Given the description of an element on the screen output the (x, y) to click on. 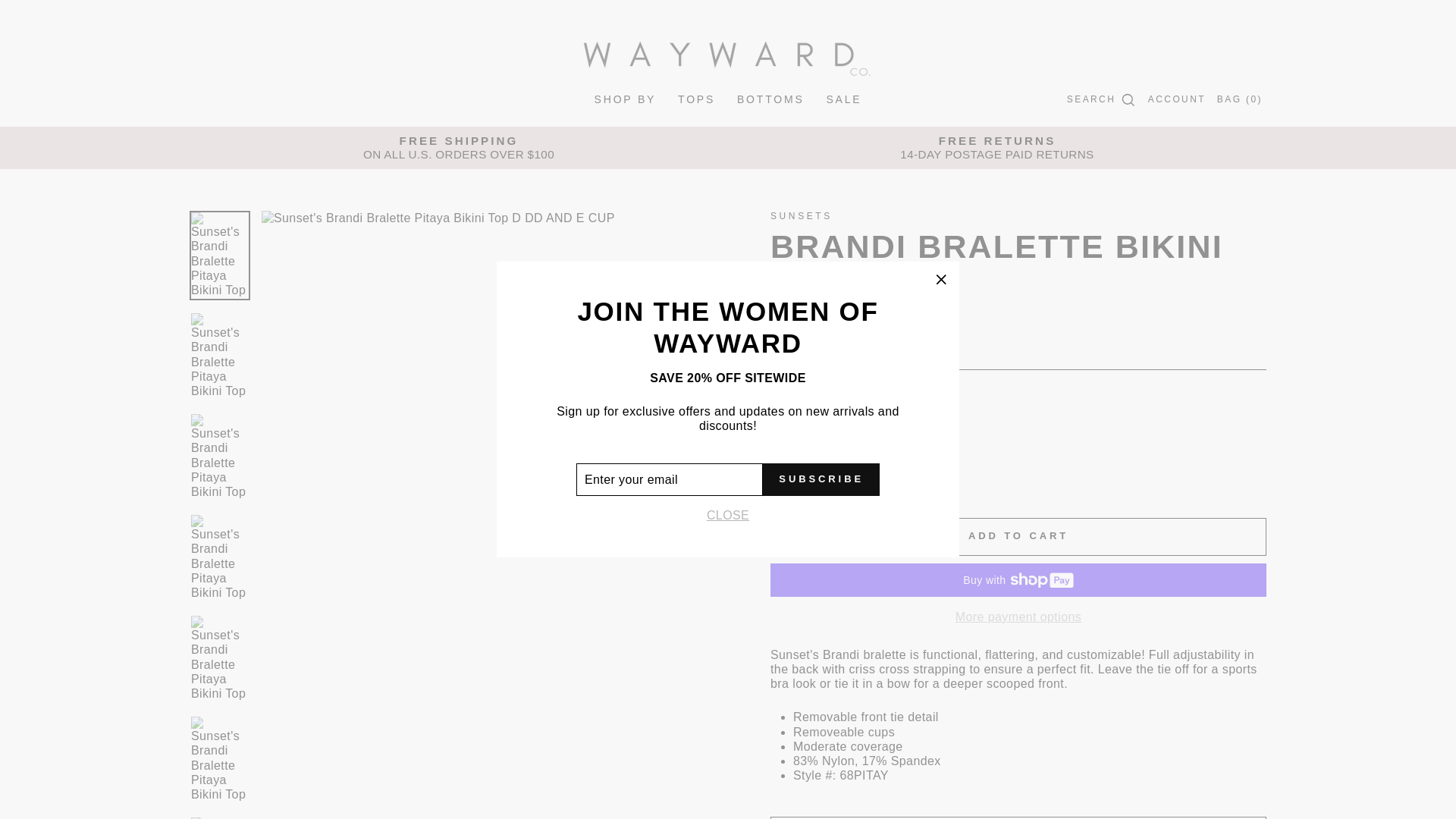
SHOP BY (625, 98)
